Given the description of an element on the screen output the (x, y) to click on. 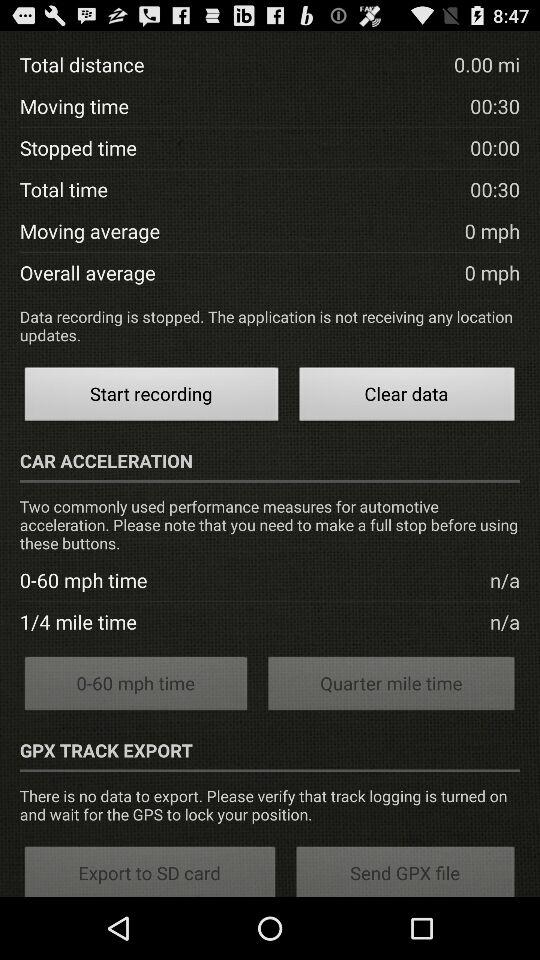
open item next to export to sd (405, 870)
